Given the description of an element on the screen output the (x, y) to click on. 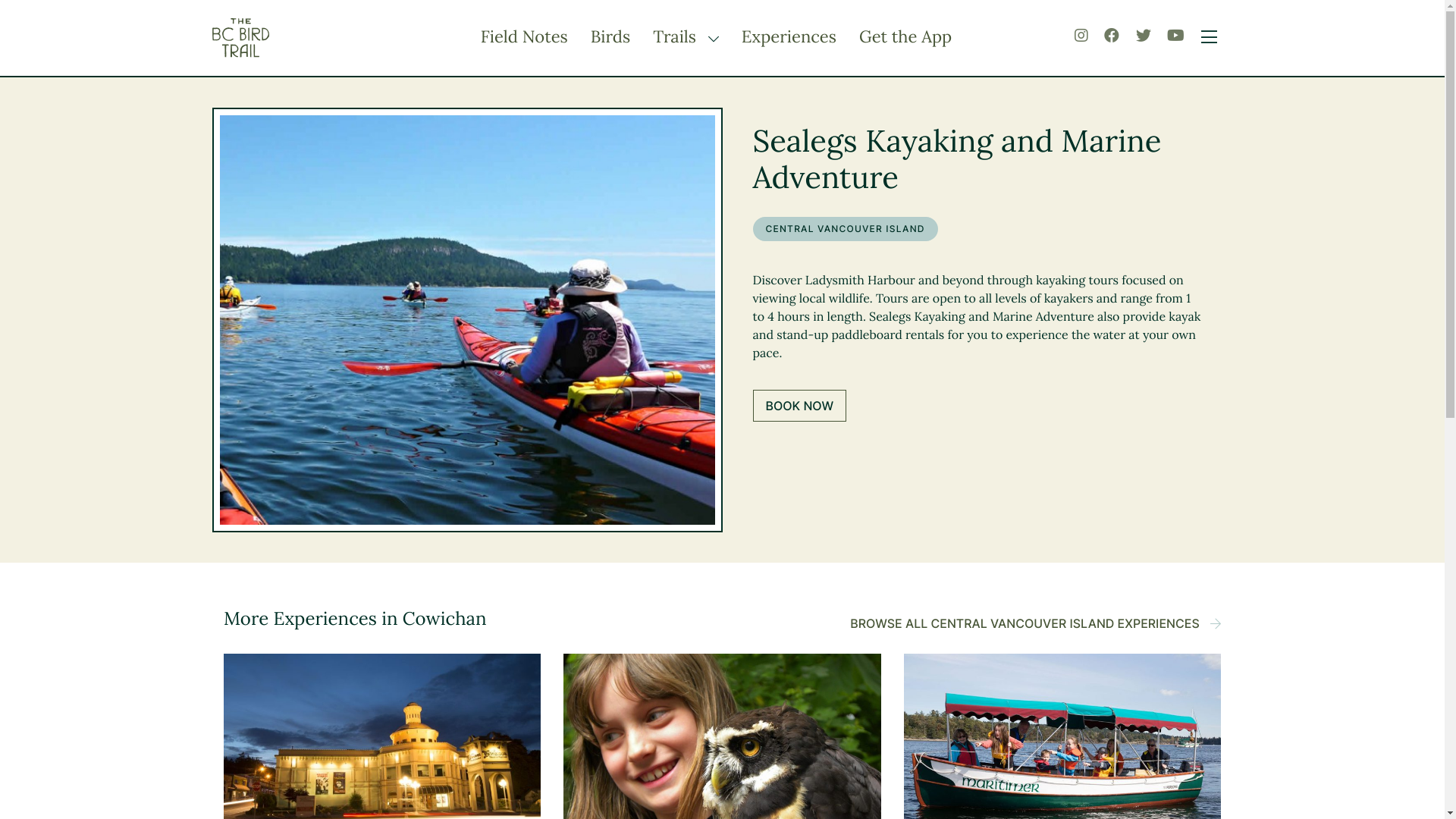
Trails Element type: text (676, 36)
Experiences Element type: text (788, 36)
CENTRAL VANCOUVER ISLAND Element type: text (844, 228)
Birds Element type: text (610, 36)
BC Bird Trail Youtube Account Element type: hover (1175, 35)
TOGGLE DROPDOWN Element type: text (709, 38)
The BC Bird Trail Element type: text (288, 37)
BC Bird Trail Twitter Account Element type: hover (1143, 35)
Field Notes Element type: text (523, 36)
Get the App Element type: text (905, 36)
BC Bird Trail Instagram Account Element type: hover (1081, 35)
BC Bird Trail Facebook Account Element type: hover (1111, 35)
BROWSE ALL CENTRAL VANCOUVER ISLAND EXPERIENCES Element type: text (1035, 623)
BOOK NOW Element type: text (799, 405)
